Given the description of an element on the screen output the (x, y) to click on. 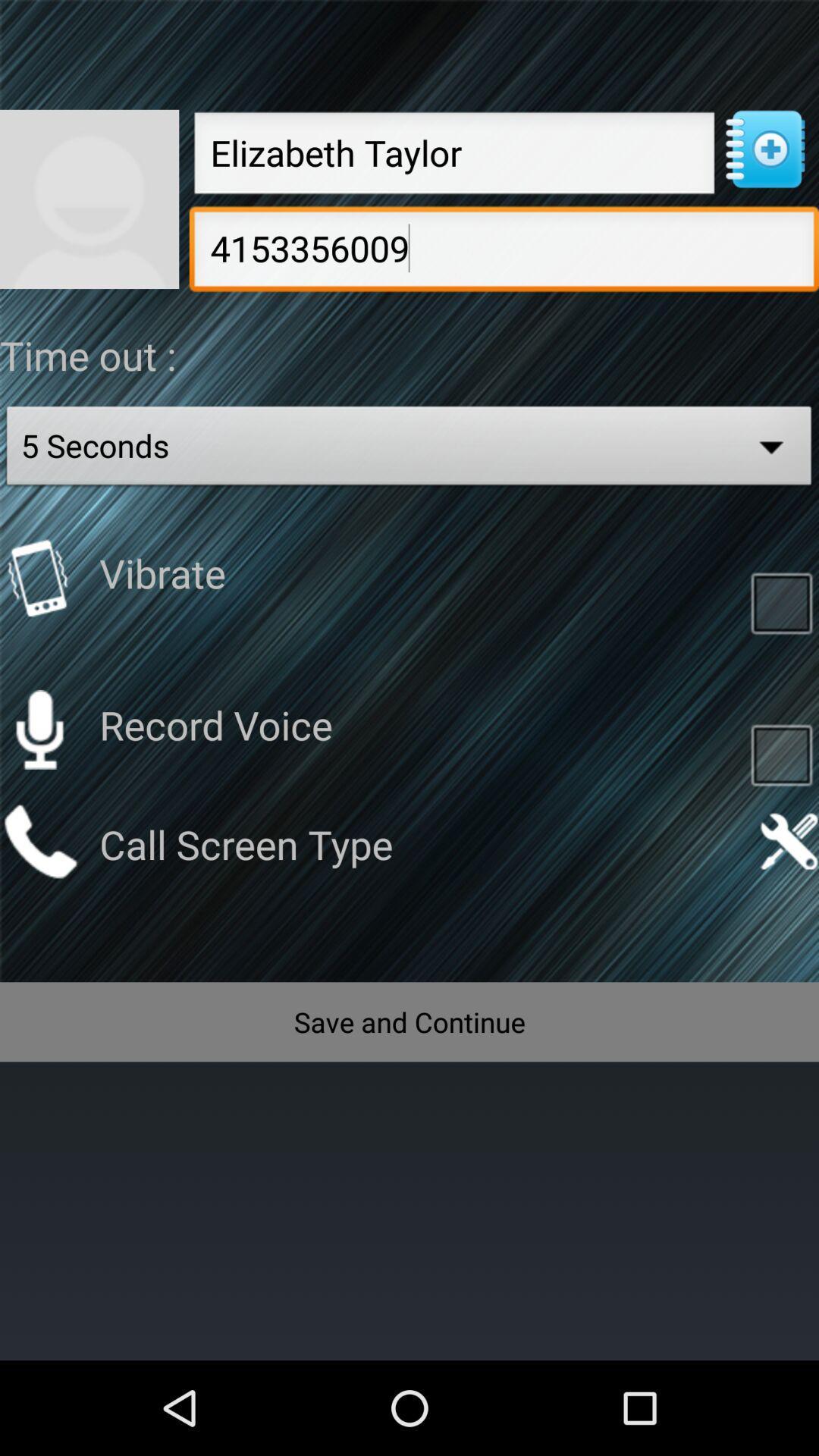
toggle vibrate (781, 602)
